Given the description of an element on the screen output the (x, y) to click on. 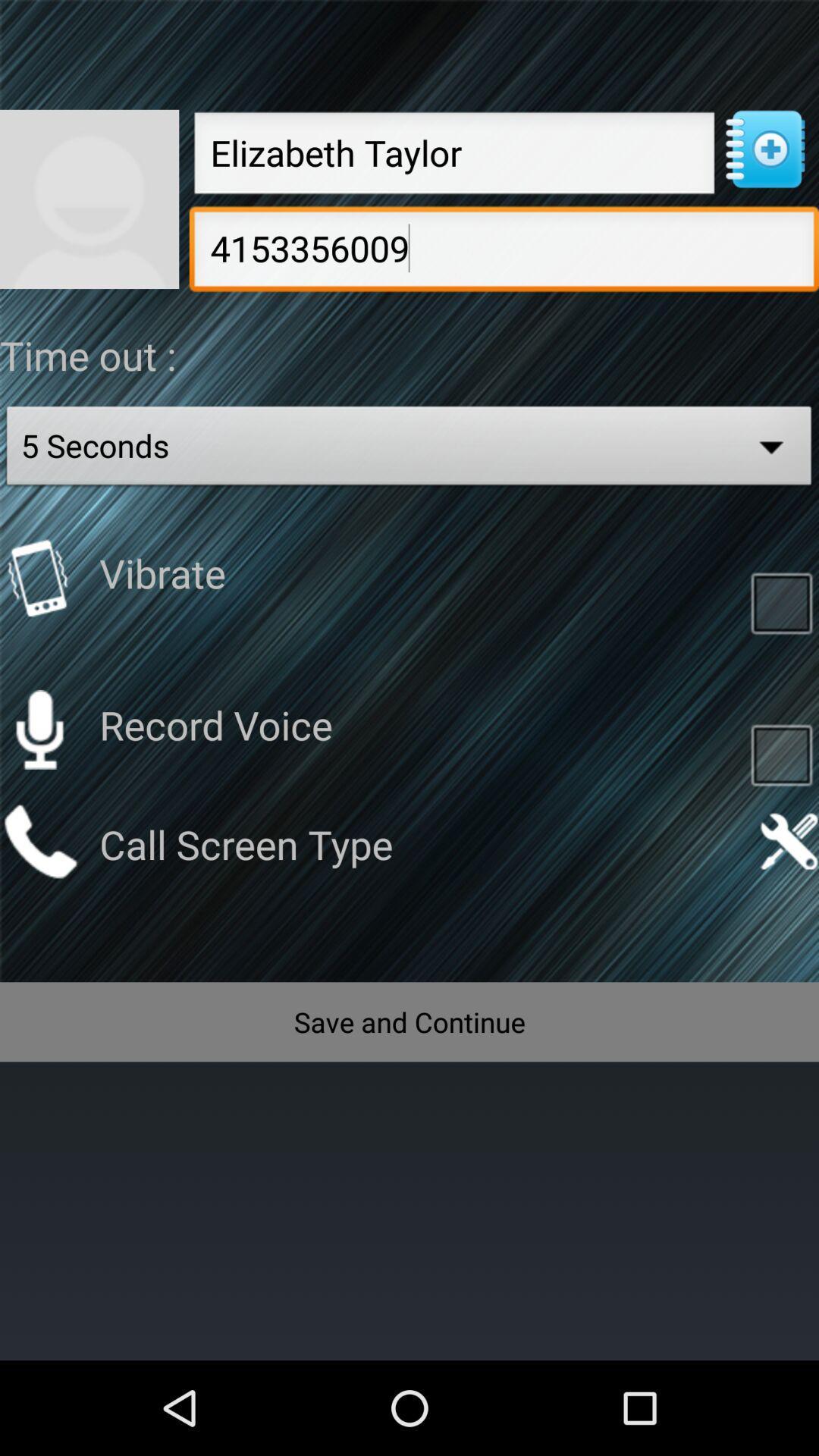
toggle vibrate (781, 602)
